Given the description of an element on the screen output the (x, y) to click on. 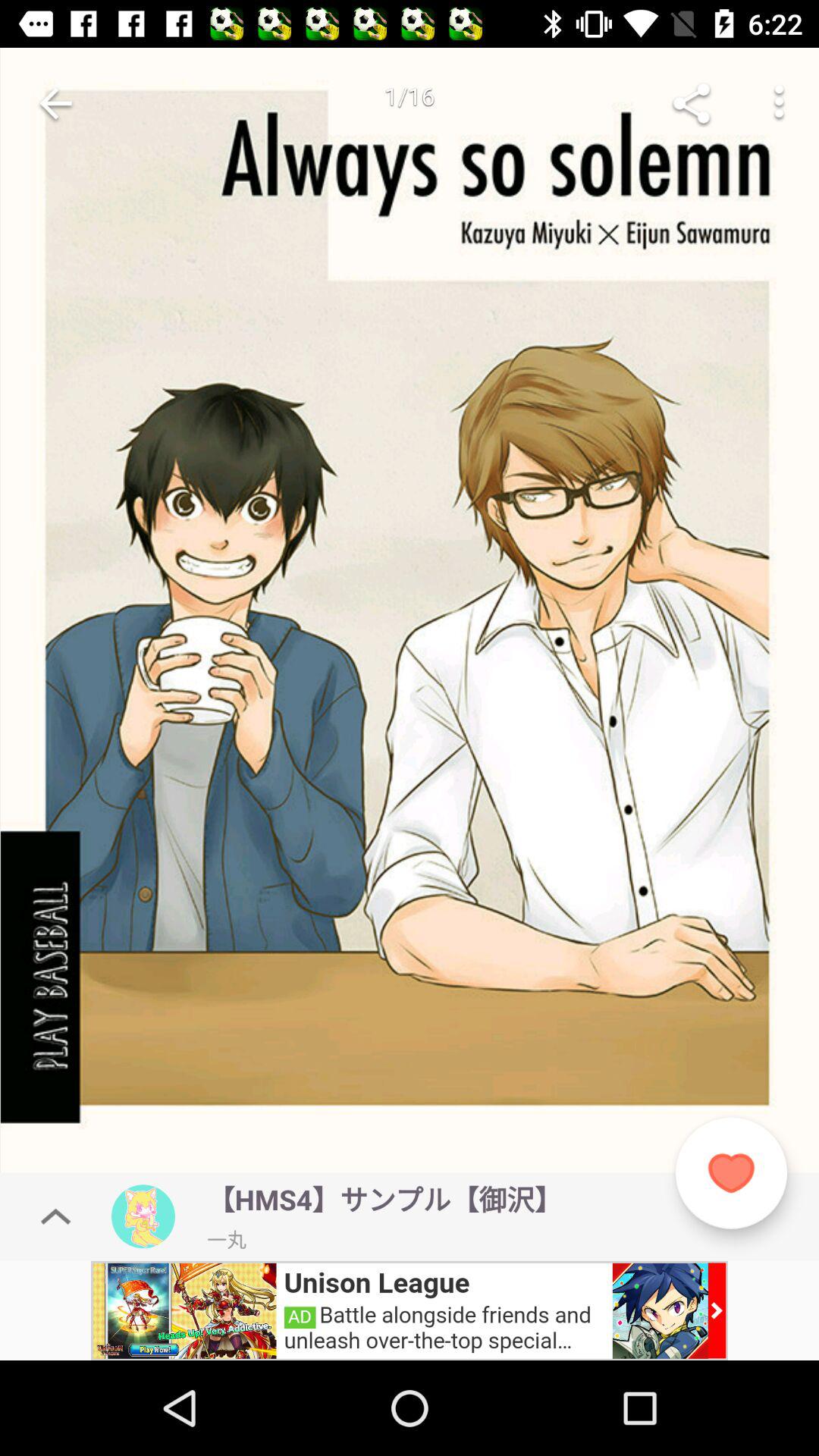
click to above (55, 1216)
